Given the description of an element on the screen output the (x, y) to click on. 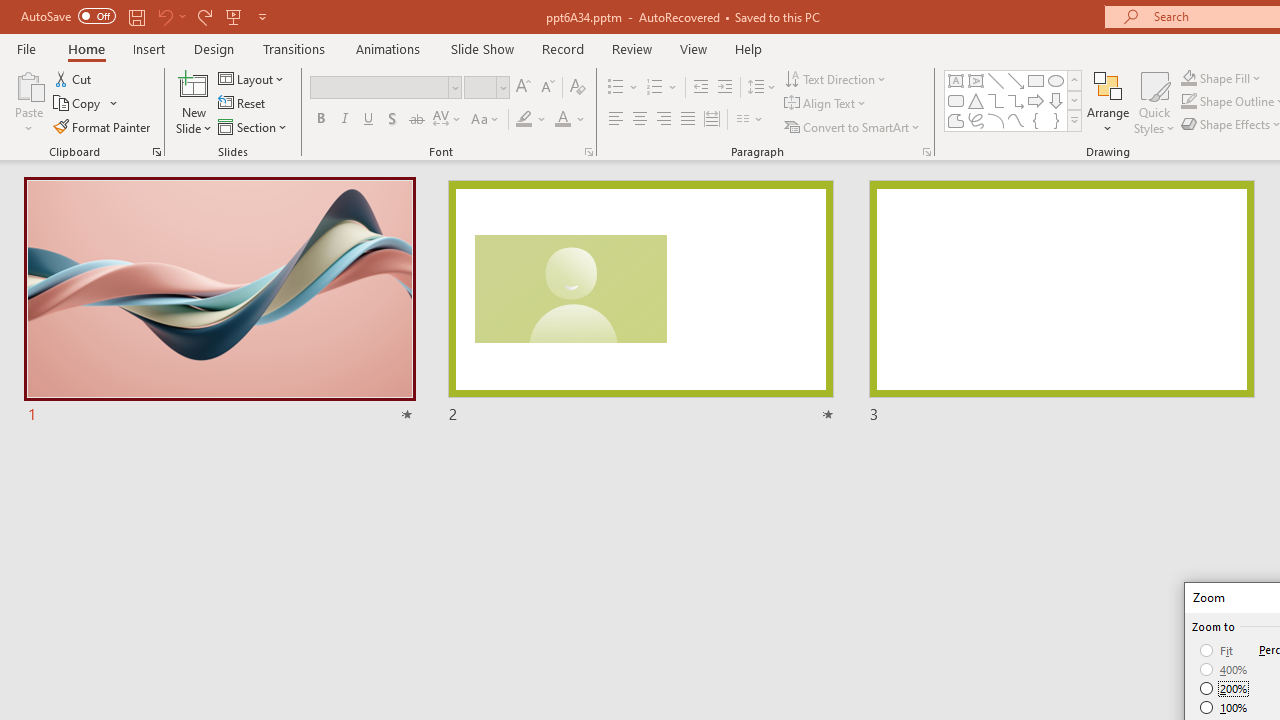
400% (1224, 669)
